Given the description of an element on the screen output the (x, y) to click on. 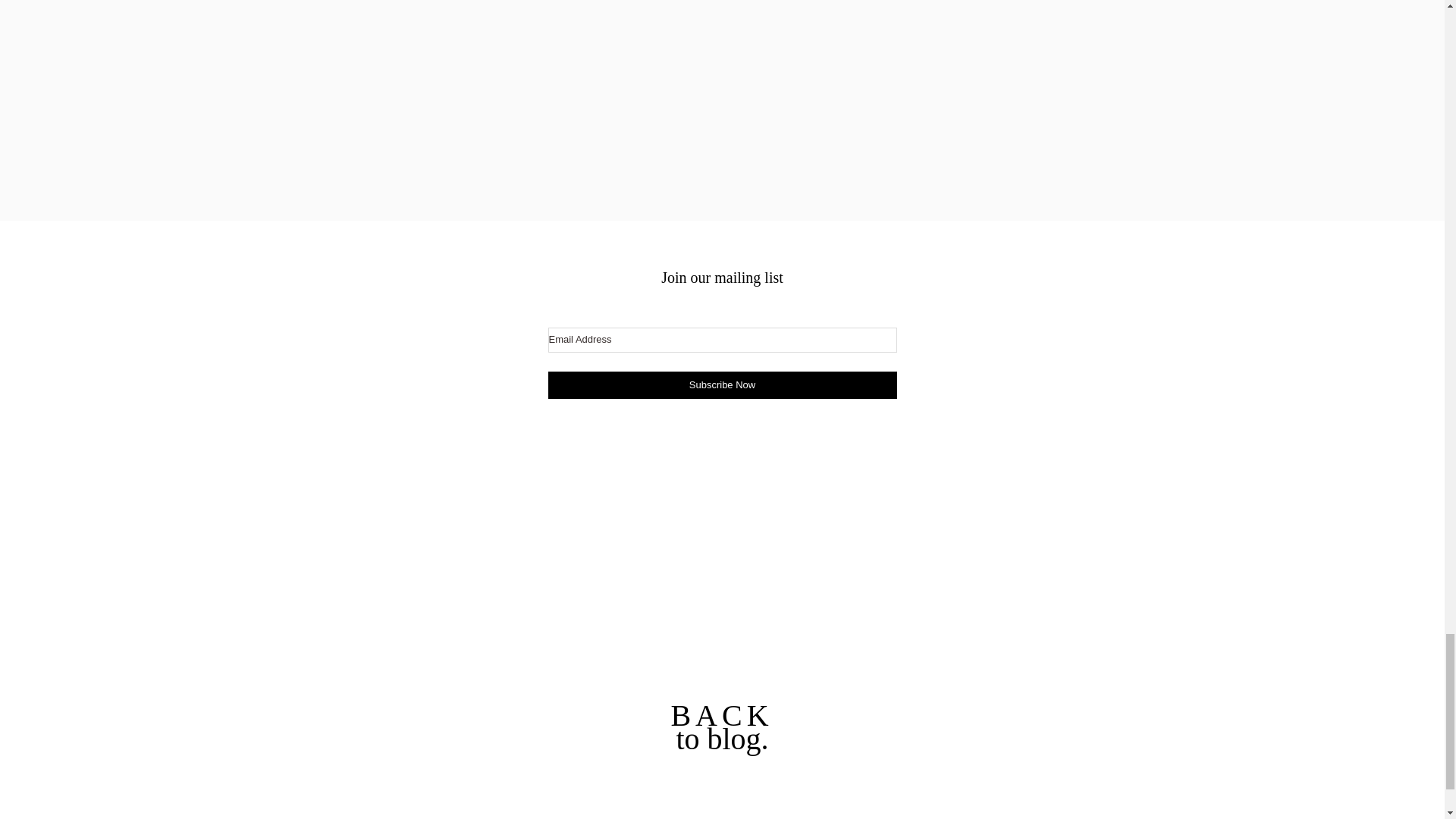
to blog. (721, 738)
BACK (721, 715)
Subscribe Now (721, 384)
